Given the description of an element on the screen output the (x, y) to click on. 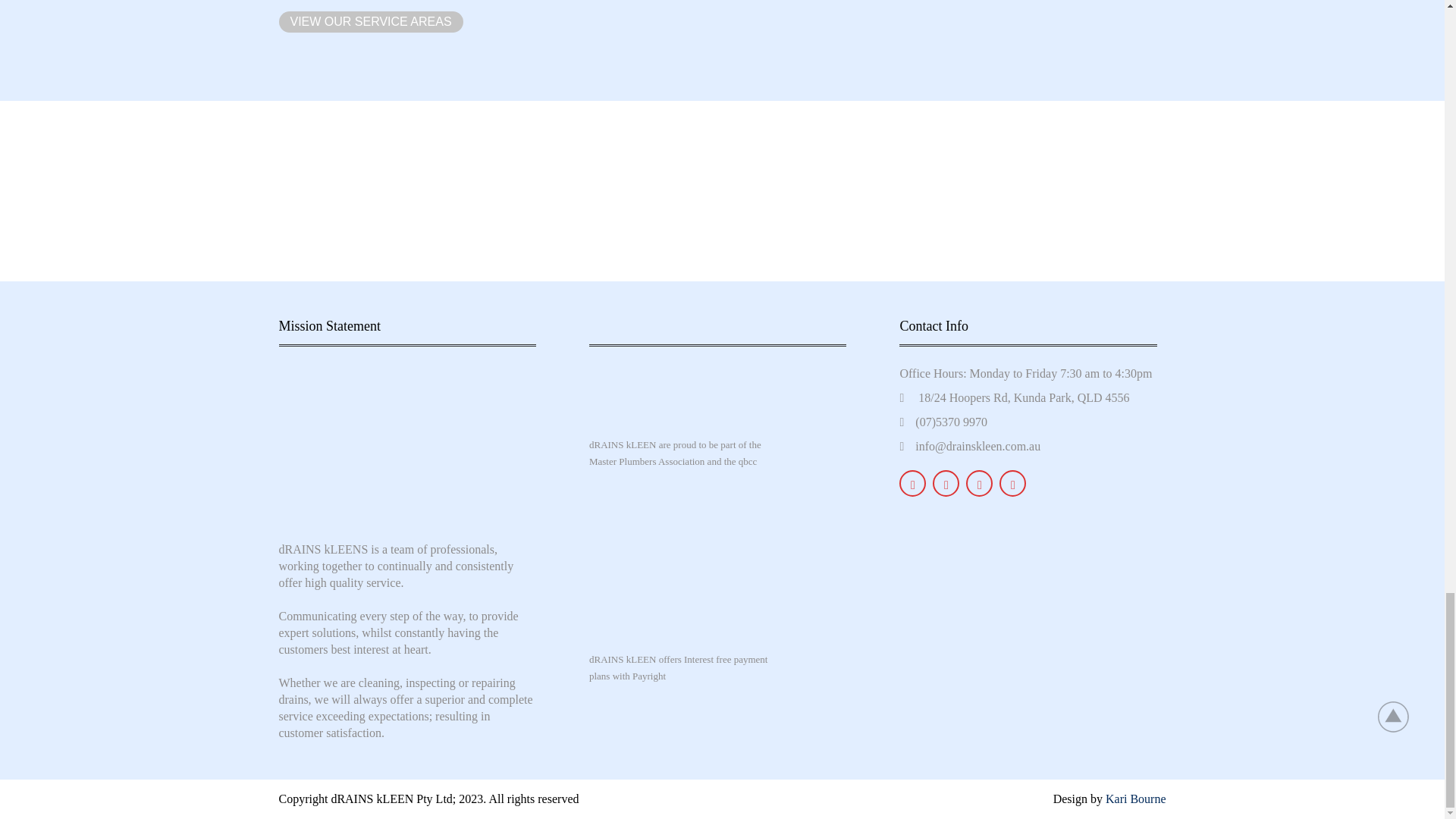
linkedin (979, 483)
facebook (912, 483)
twitter (946, 483)
google-plus (1012, 483)
VIEW OUR SERVICE AREAS (370, 21)
VIEW OUR SERVICE AREAS (371, 21)
